Given the description of an element on the screen output the (x, y) to click on. 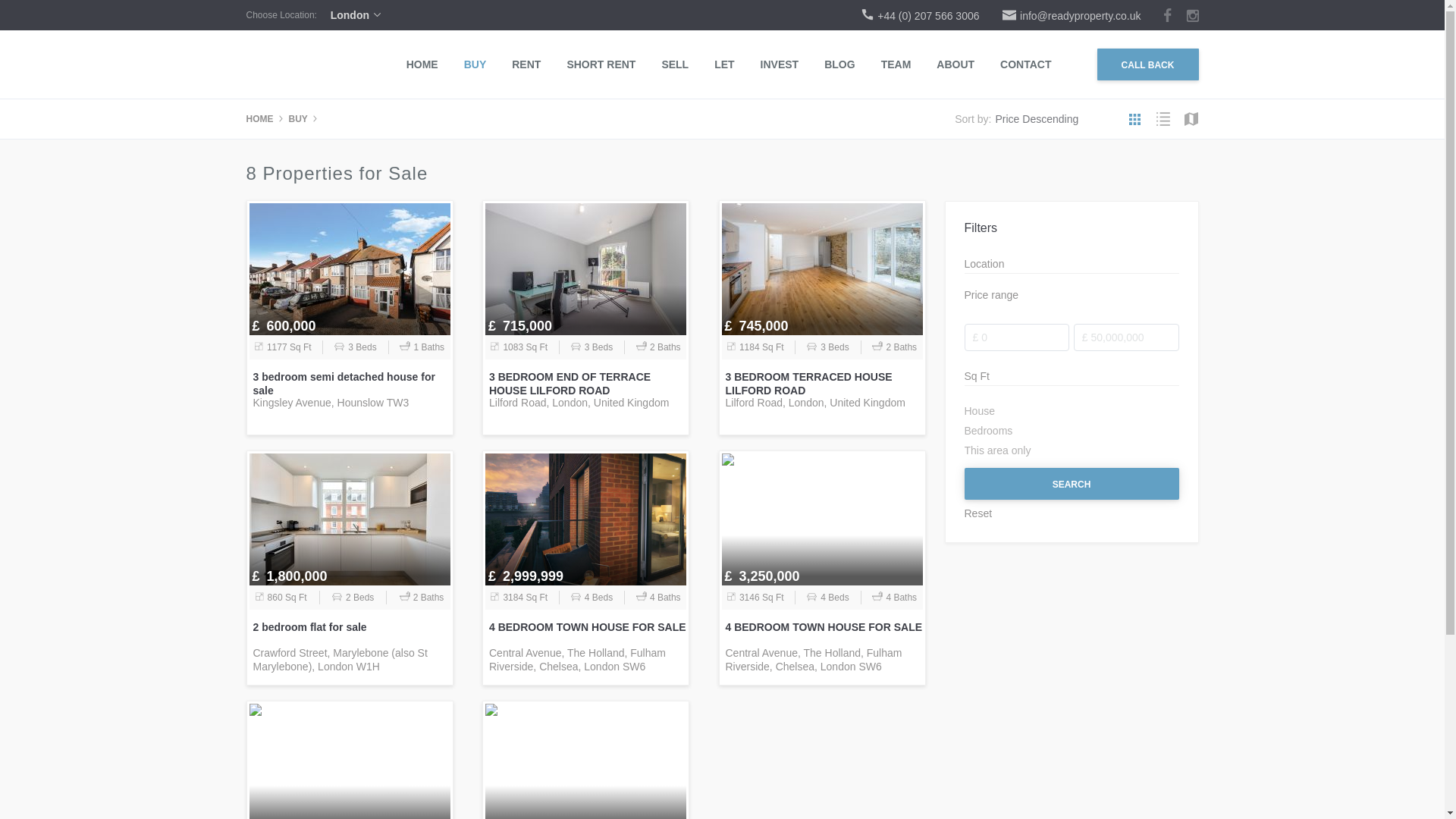
ABOUT (955, 64)
LET (723, 64)
Reset (1071, 512)
BUY (475, 64)
HOME (422, 64)
CALL BACK (1147, 64)
SEARCH (1071, 483)
SHORT RENT (600, 64)
HOME (259, 118)
SELL (674, 64)
BLOG (839, 64)
CONTACT (1025, 64)
BUY (297, 118)
RENT (526, 64)
TEAM (895, 64)
